Given the description of an element on the screen output the (x, y) to click on. 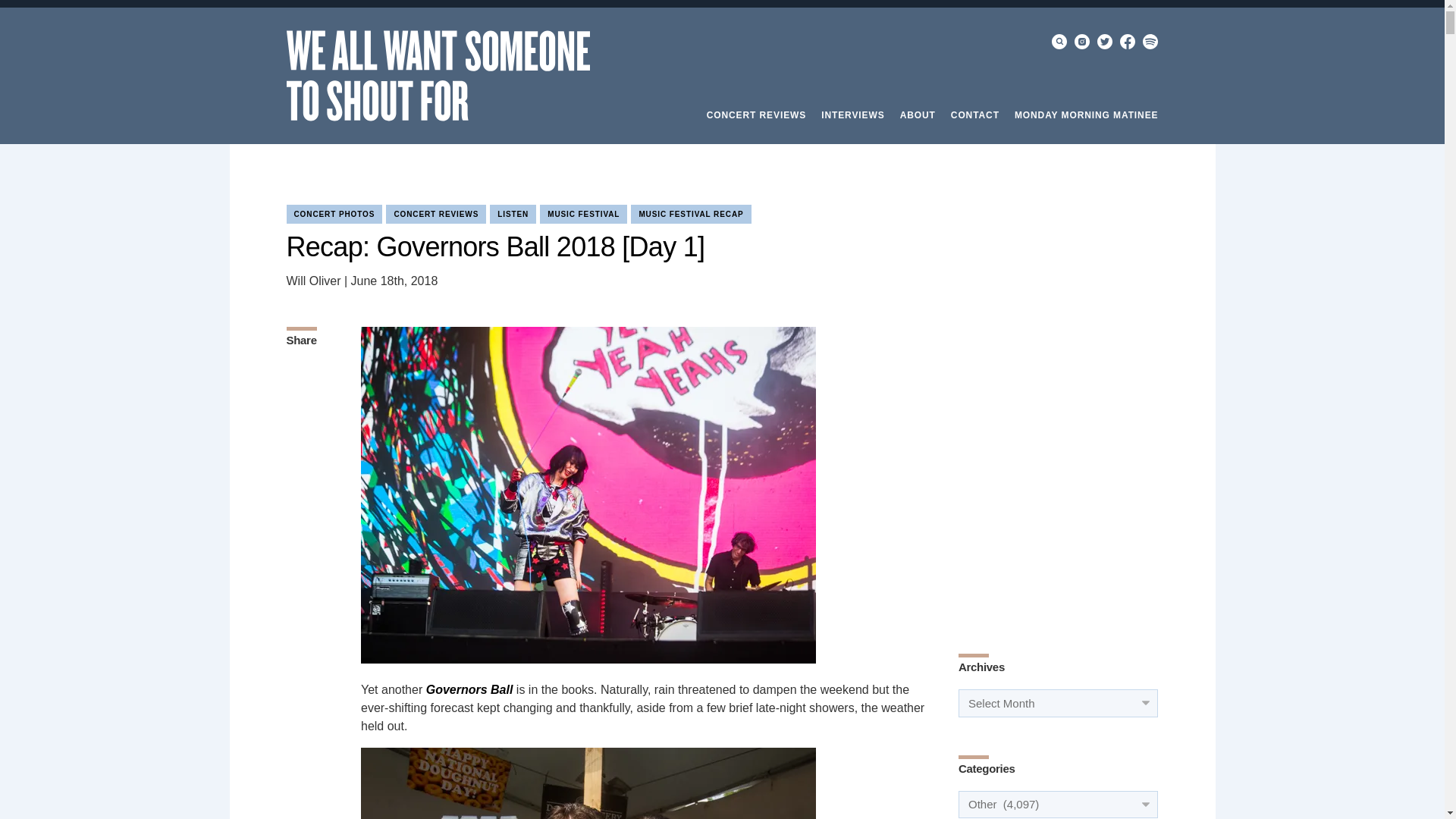
Governors Ball (469, 689)
Instagram (1081, 41)
MONDAY MORNING MATINEE (1086, 115)
LISTEN (512, 213)
Twitter (1104, 41)
INTERVIEWS (852, 115)
CONCERT REVIEWS (756, 115)
We All Want Someone To Shout For (437, 75)
Facebook (1127, 41)
CONCERT REVIEWS (435, 213)
